Given the description of an element on the screen output the (x, y) to click on. 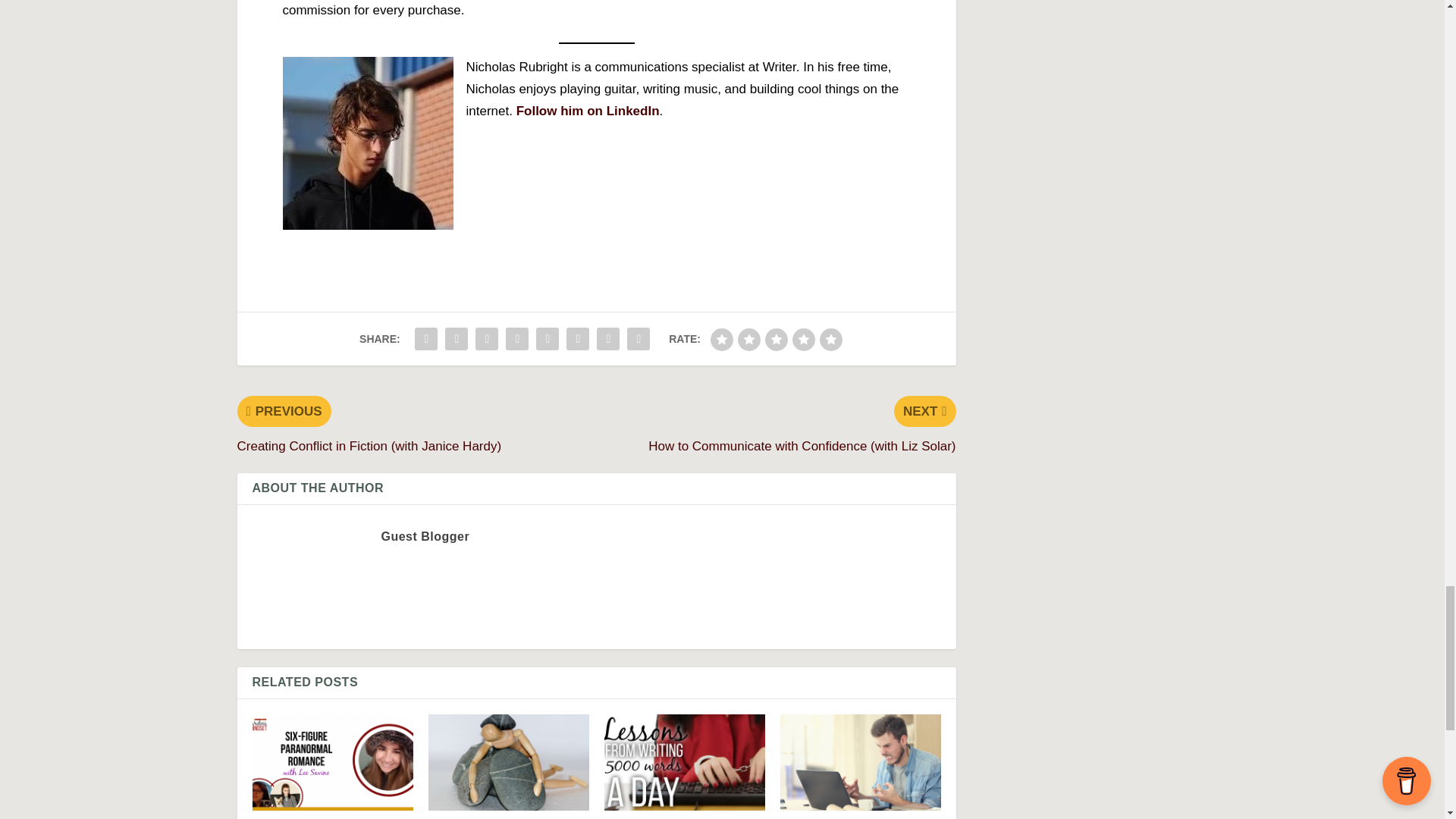
poor (749, 339)
bad (721, 339)
